Given the description of an element on the screen output the (x, y) to click on. 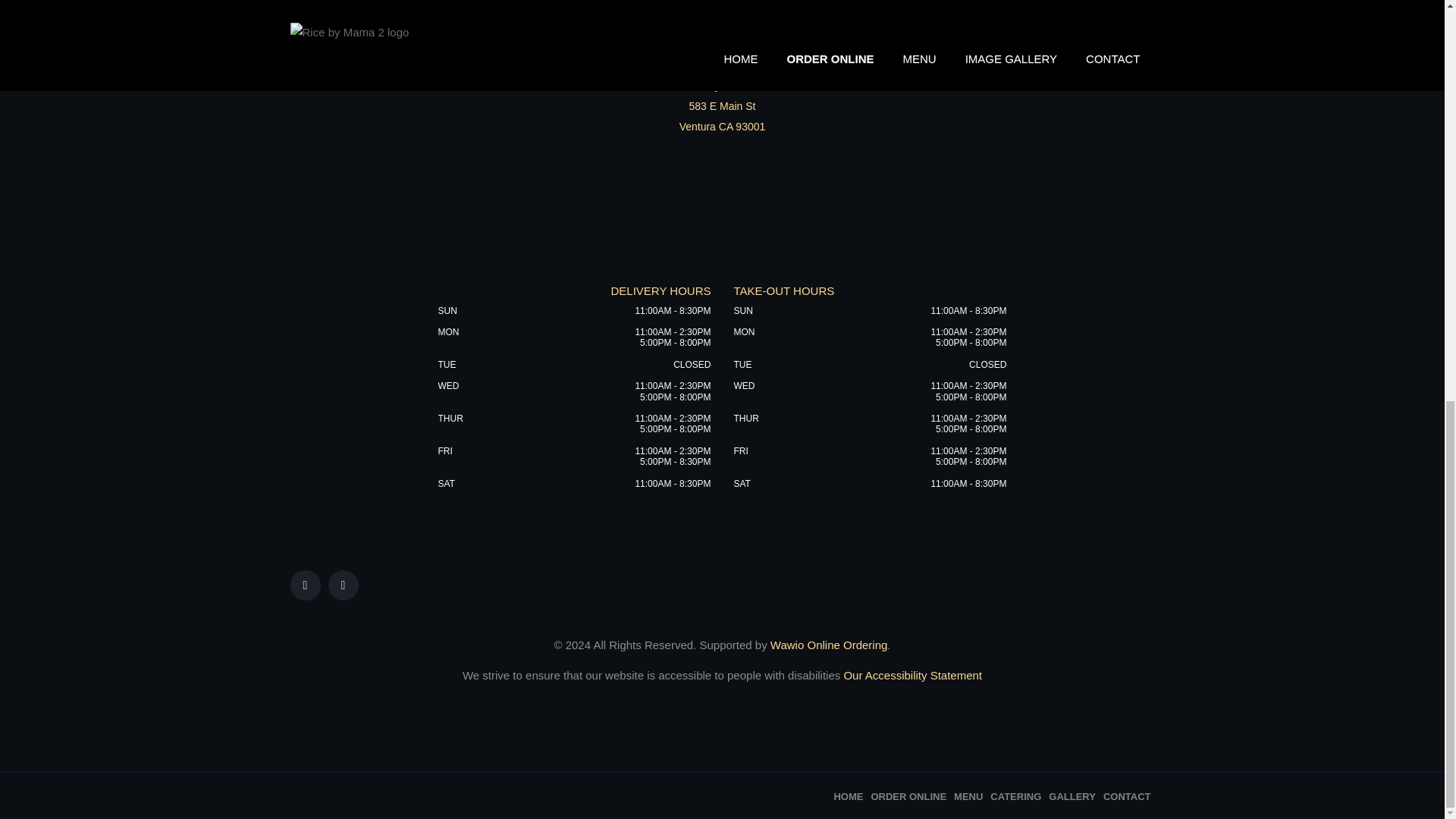
Return Home (722, 2)
CONTACT (1127, 796)
Our Accessibility Statement (910, 675)
Wawio Online Ordering (829, 644)
Wawio Online Ordering Website (829, 644)
MENU (967, 796)
HOME (847, 796)
CATERING (1015, 796)
GALLERY (1072, 796)
Yelp (342, 585)
